Given the description of an element on the screen output the (x, y) to click on. 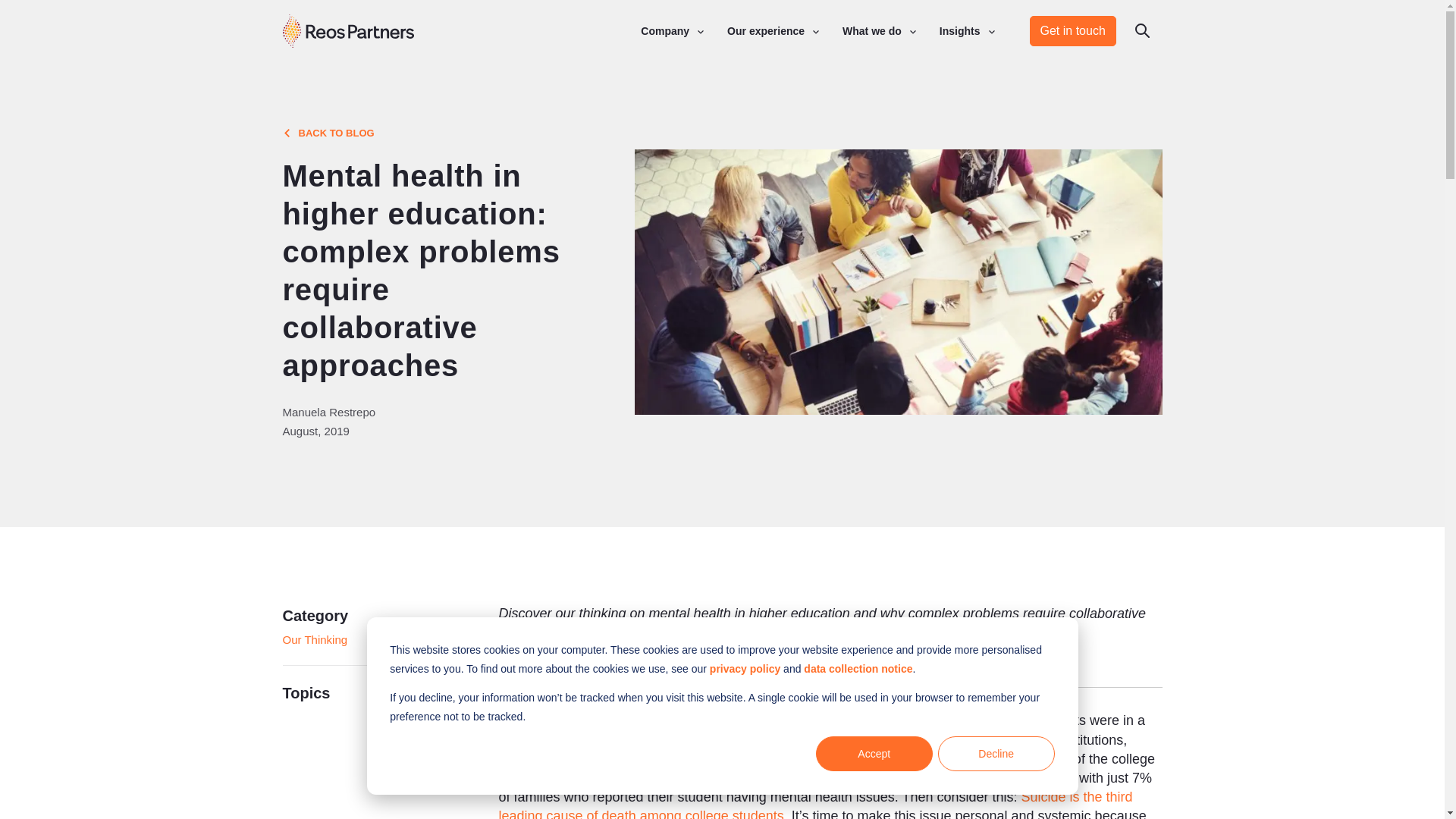
Our Thinking (314, 639)
Company (664, 31)
Get in touch (1072, 30)
Insights (959, 31)
What we do (872, 31)
Our experience (765, 31)
